Given the description of an element on the screen output the (x, y) to click on. 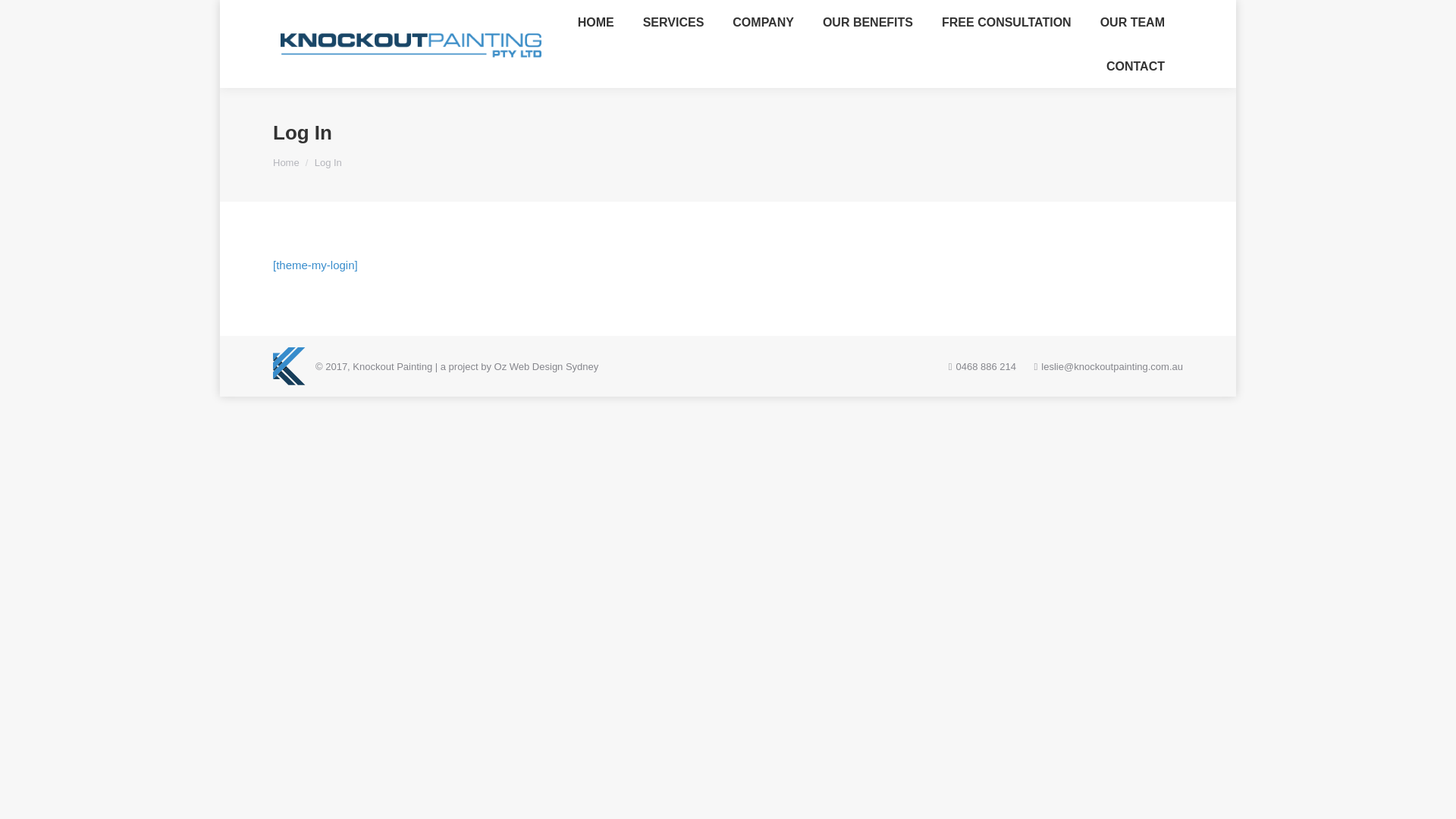
COMPANY Element type: text (762, 21)
CONTACT Element type: text (1135, 65)
FREE CONSULTATION Element type: text (1006, 21)
Home Element type: text (286, 161)
HOME Element type: text (595, 21)
SERVICES Element type: text (673, 21)
OUR TEAM Element type: text (1132, 21)
OUR BENEFITS Element type: text (867, 21)
